Given the description of an element on the screen output the (x, y) to click on. 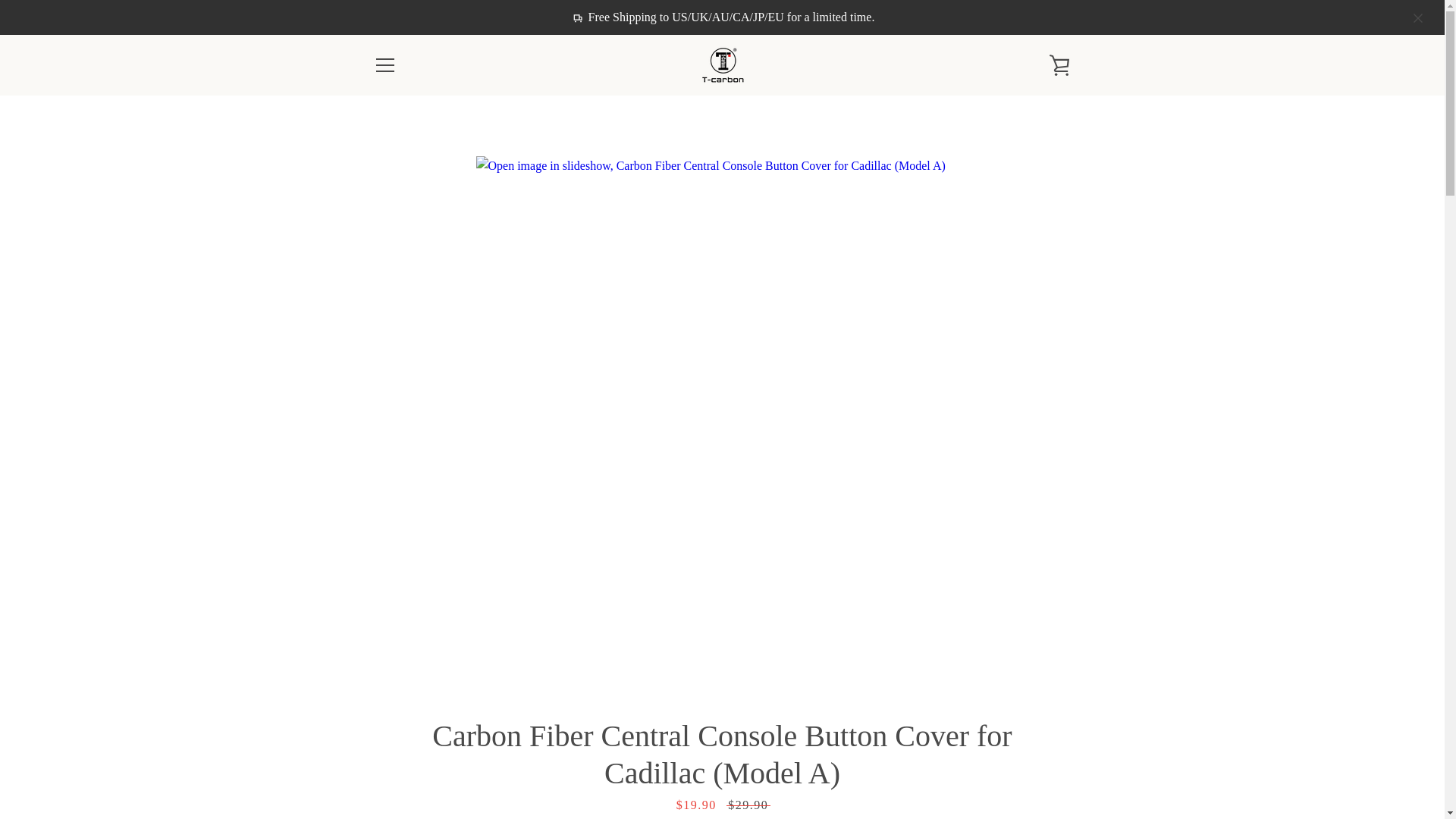
Visa (1057, 778)
Apple Pay (918, 755)
Mastercard (988, 755)
Shop Pay (1057, 755)
Google Pay (953, 755)
PayPal (1022, 755)
Union Pay (1022, 778)
T-Carbon Official Store on Facebook (372, 765)
T-Carbon Official Store on YouTube (450, 765)
American Express (883, 755)
T-Carbon Official Store on Instagram (424, 765)
MENU (384, 64)
T-Carbon Official Store on Pinterest (398, 765)
